Given the description of an element on the screen output the (x, y) to click on. 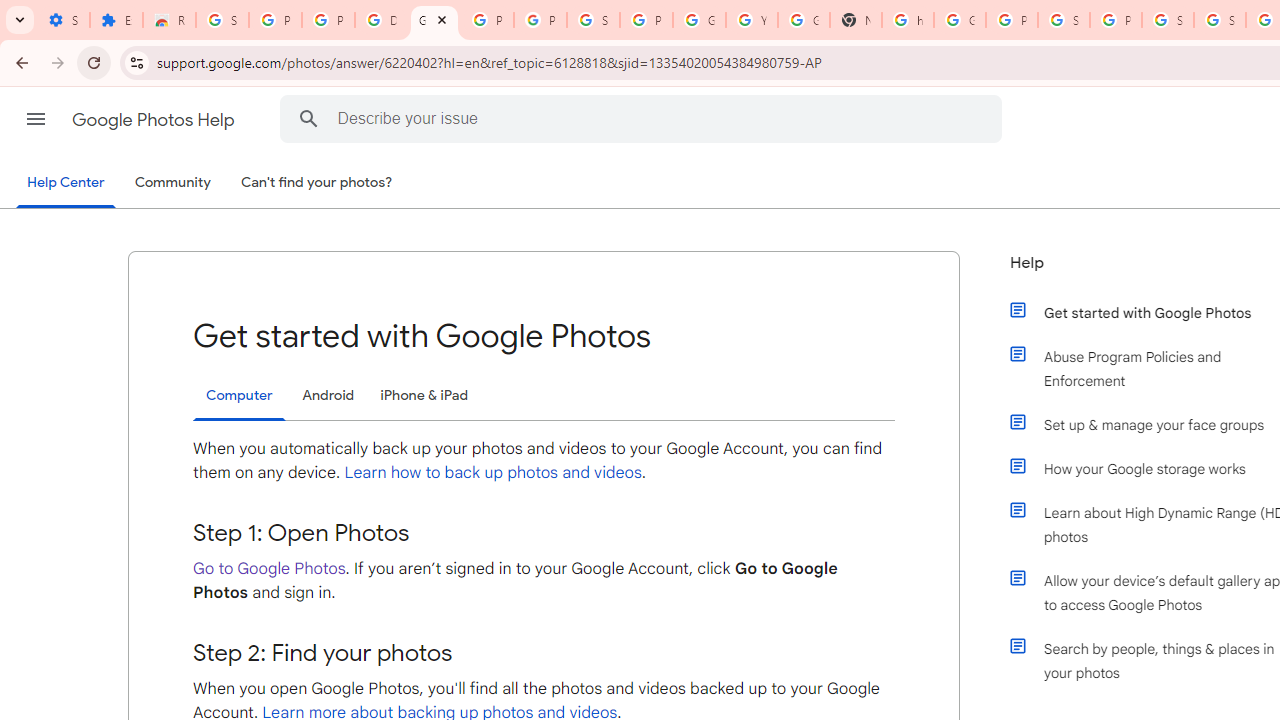
Android (328, 395)
Reviews: Helix Fruit Jump Arcade Game (169, 20)
Search Help Center (309, 118)
Computer (239, 396)
Sign in - Google Accounts (222, 20)
Sign in - Google Accounts (1219, 20)
iPhone & iPad (424, 395)
